Given the description of an element on the screen output the (x, y) to click on. 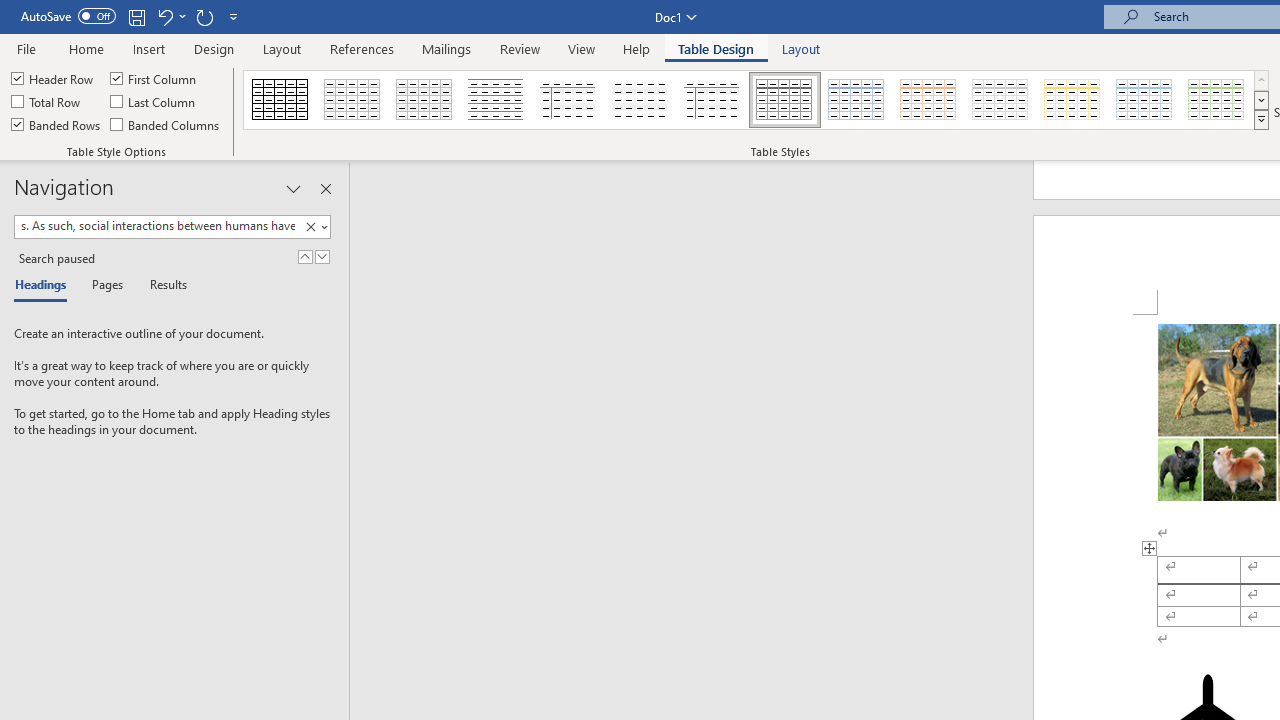
Grid Table 1 Light (784, 100)
Grid Table 1 Light - Accent 2 (929, 100)
Plain Table 4 (641, 100)
Table Grid Light (353, 100)
Grid Table 1 Light - Accent 4 (1072, 100)
